Given the description of an element on the screen output the (x, y) to click on. 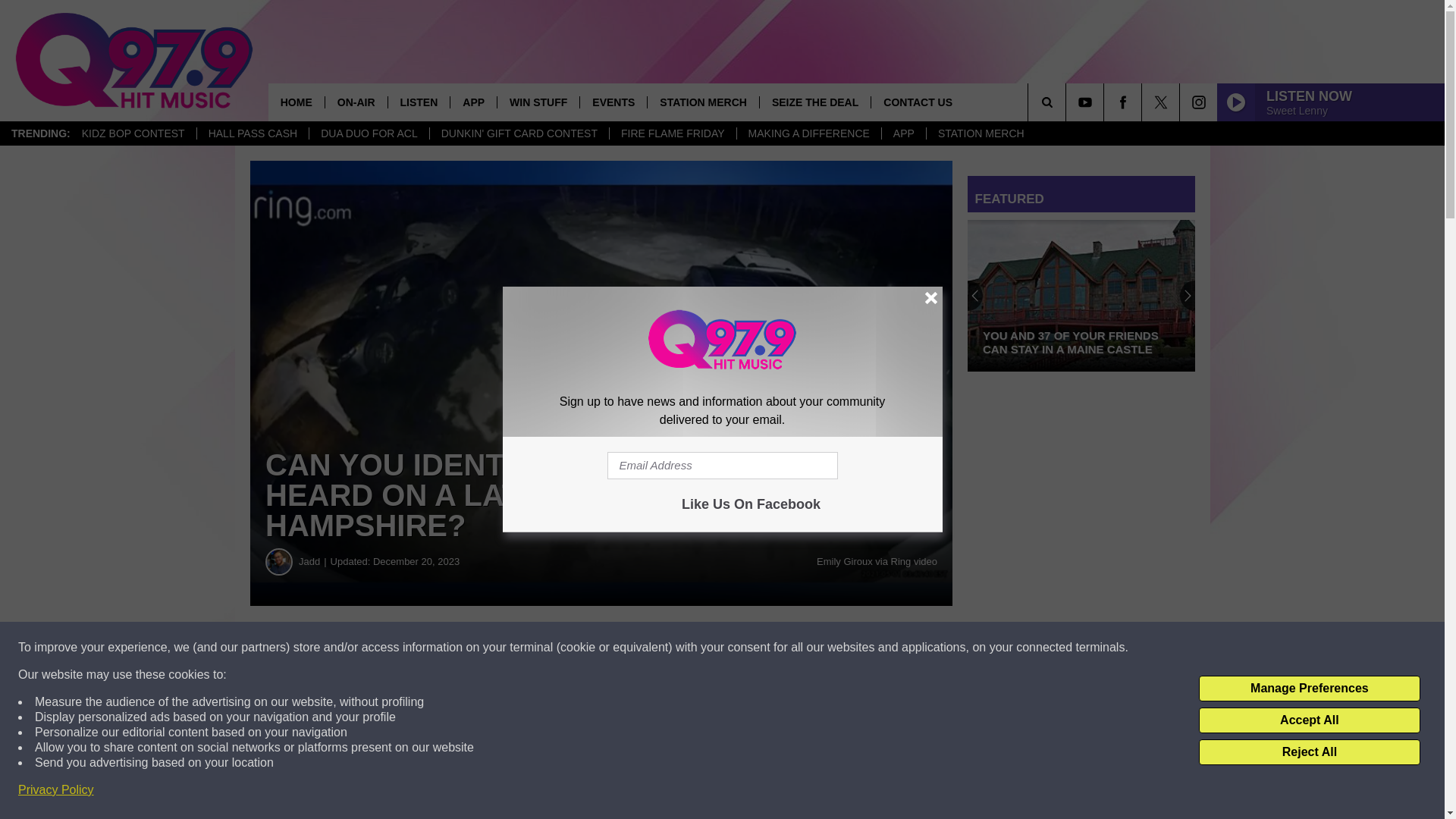
SEARCH (1068, 102)
STATION MERCH (980, 133)
DUA DUO FOR ACL (368, 133)
Accept All (1309, 720)
DUNKIN' GIFT CARD CONTEST (518, 133)
Share on Facebook (460, 647)
WIN STUFF (537, 102)
FIRE FLAME FRIDAY (672, 133)
APP (903, 133)
HOME (295, 102)
LISTEN (418, 102)
Share on Twitter (741, 647)
KIDZ BOP CONTEST (132, 133)
Reject All (1309, 751)
SEARCH (1068, 102)
